Given the description of an element on the screen output the (x, y) to click on. 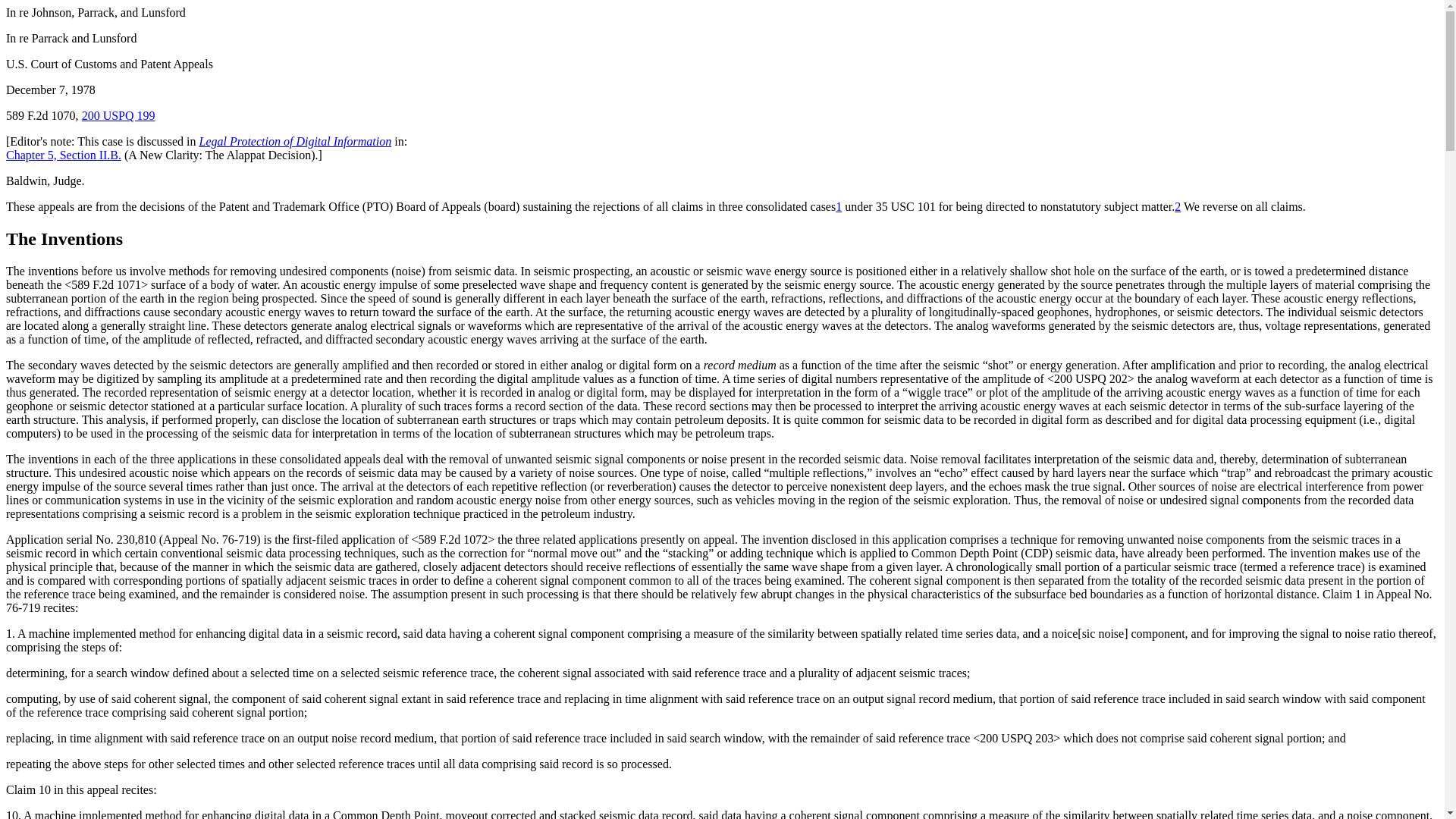
200 USPQ 199 (118, 115)
Link to case for BNA subscribers (118, 115)
Legal Protection of Digital Information (295, 141)
Chapter 5, Section II.B. (62, 154)
